Given the description of an element on the screen output the (x, y) to click on. 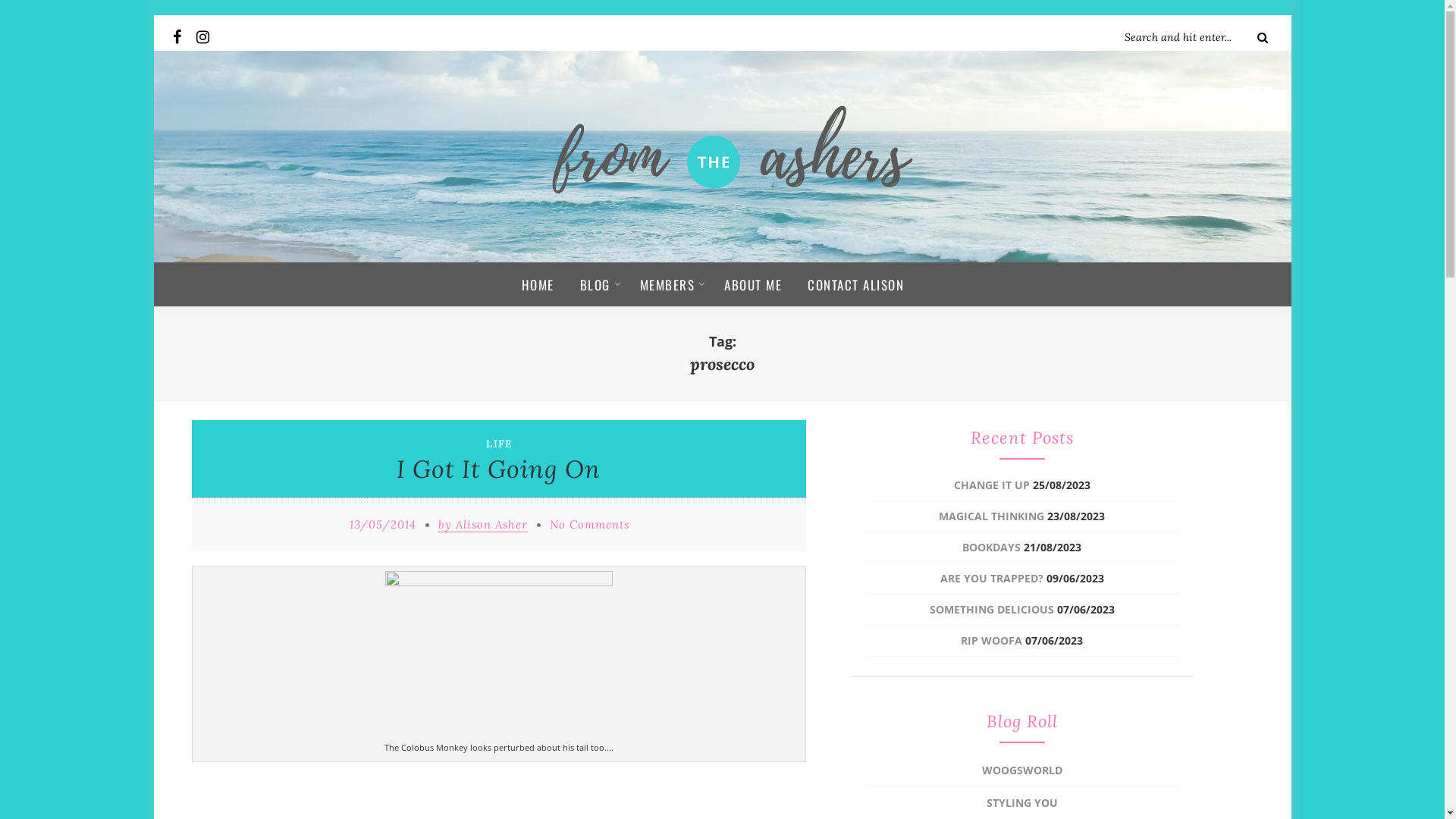
by Alison Asher Element type: text (482, 524)
ARE YOU TRAPPED? Element type: text (991, 578)
STYLING YOU Element type: text (1021, 802)
I Got It Going On Element type: text (498, 468)
13/05/2014 Element type: text (381, 524)
ABOUT ME Element type: text (752, 280)
RIP WOOFA Element type: text (991, 640)
MAGICAL THINKING Element type: text (991, 515)
CONTACT ALISON Element type: text (849, 280)
BOOKDAYS Element type: text (991, 546)
WOOGSWORLD Element type: text (1021, 769)
BLOG Element type: text (596, 280)
CHANGE IT UP Element type: text (991, 484)
Facebook Element type: hover (183, 33)
HOME Element type: text (543, 280)
SOMETHING DELICIOUS Element type: text (991, 609)
No Comments Element type: text (588, 524)
Instagram Element type: hover (206, 33)
LIFE Element type: text (498, 443)
MEMBERS Element type: text (669, 280)
